Given the description of an element on the screen output the (x, y) to click on. 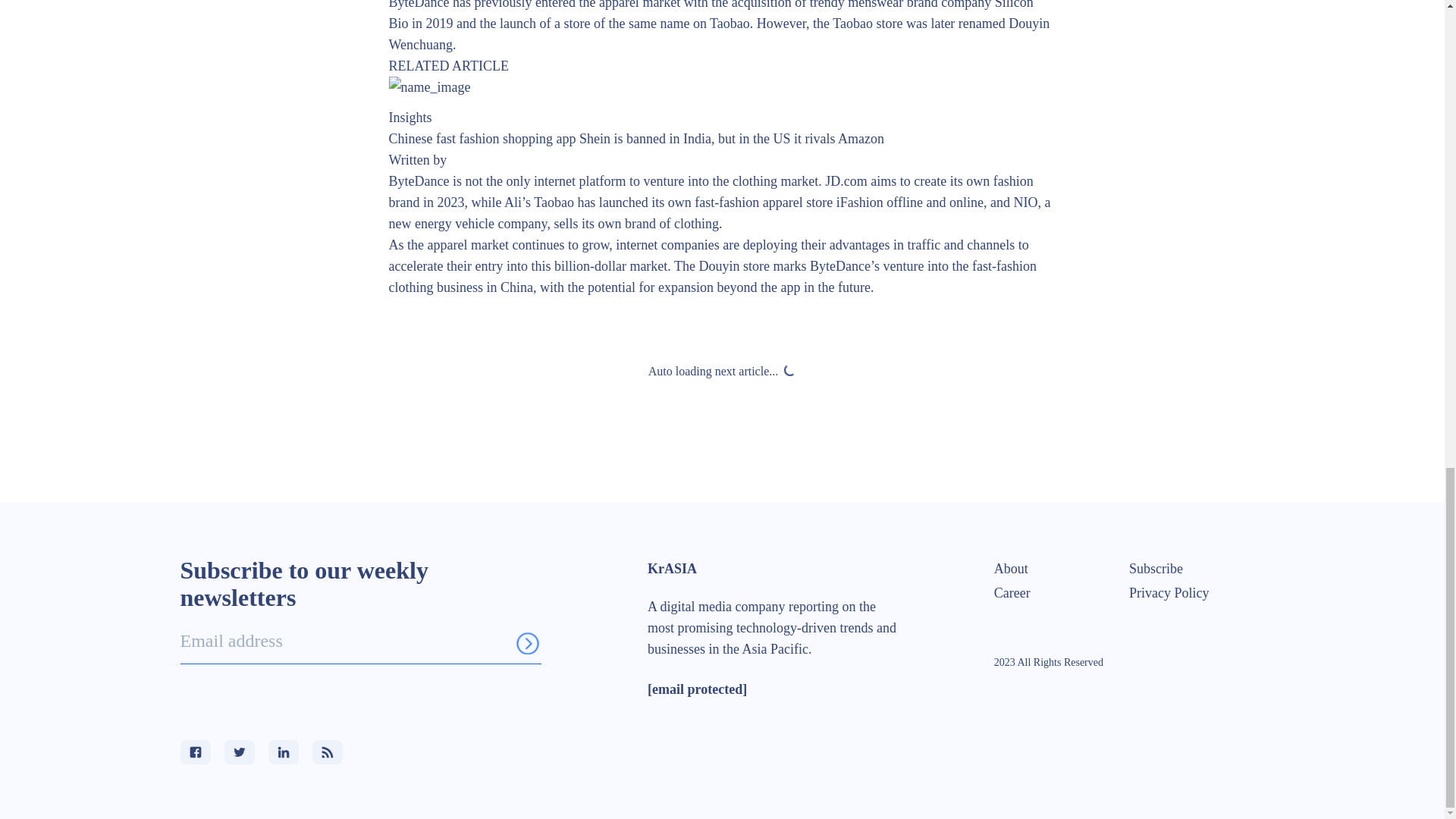
Insights (409, 117)
the apparel market (628, 4)
